Given the description of an element on the screen output the (x, y) to click on. 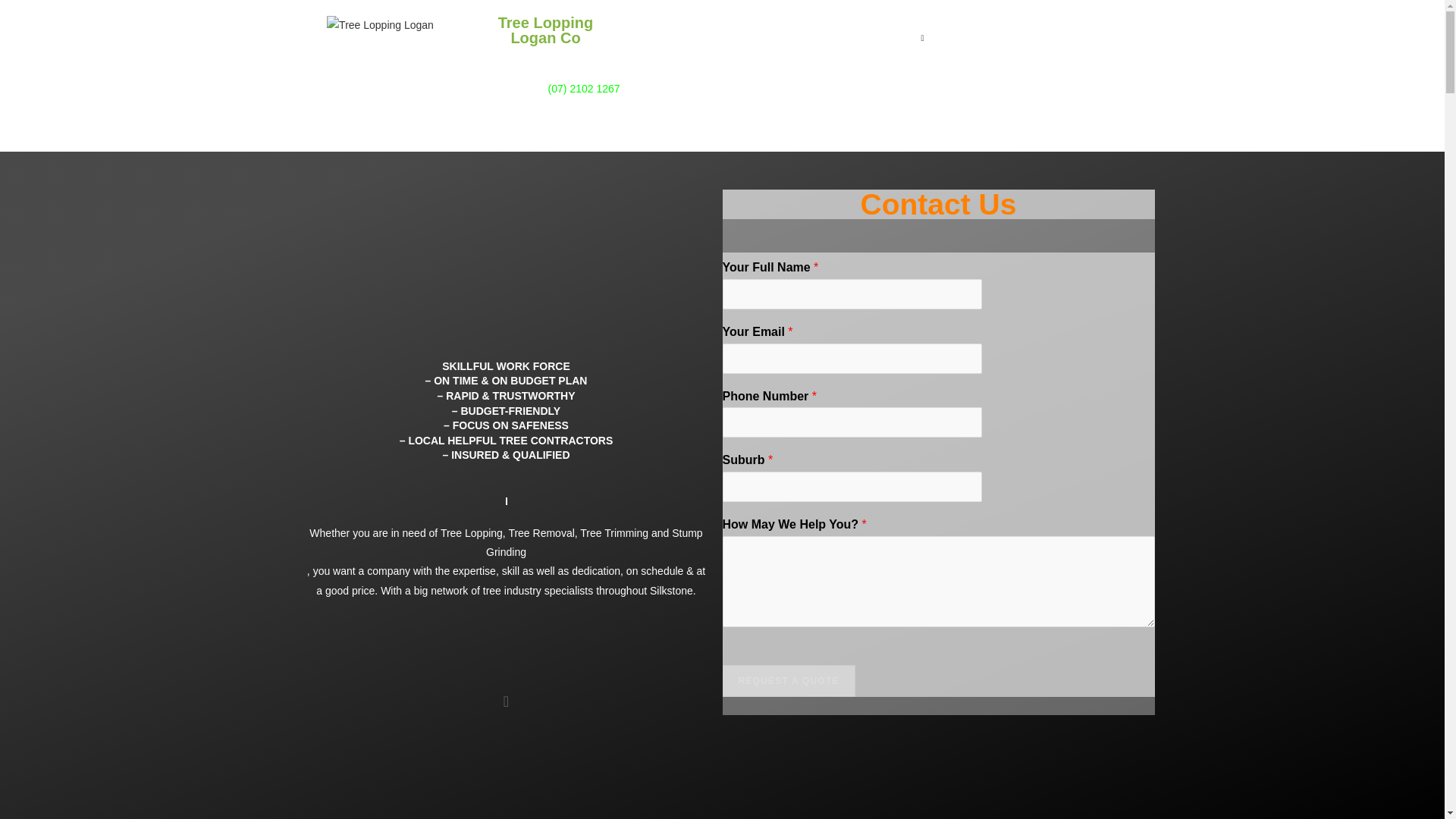
REQUEST A QUOTE (788, 680)
SERVICES (887, 37)
HOME (711, 37)
BLOG (1079, 37)
CONTACT US (994, 37)
Tree Lopping Logan Co (379, 25)
ABOUT US (789, 37)
